Given the description of an element on the screen output the (x, y) to click on. 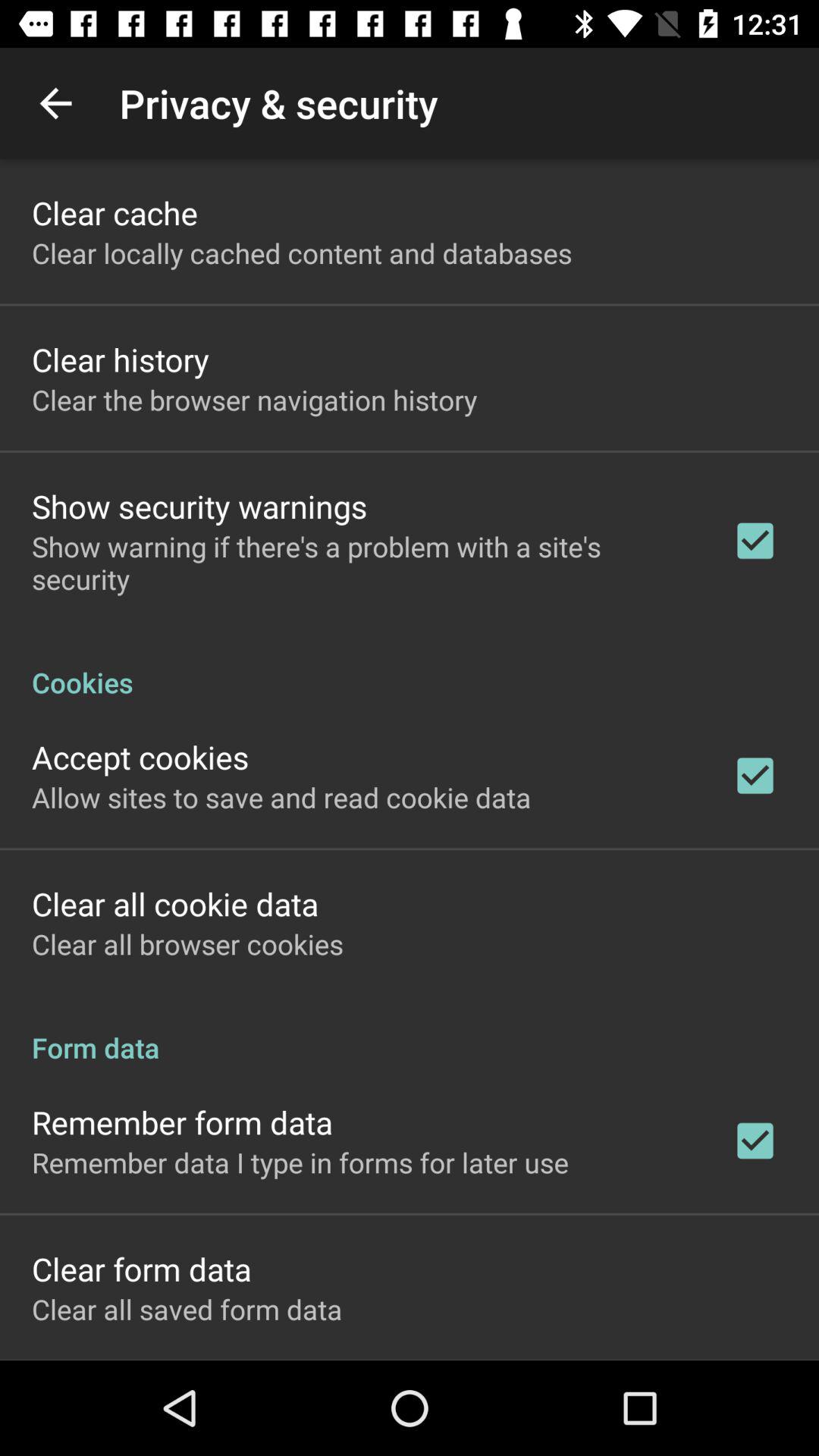
launch icon above clear all cookie item (281, 797)
